Given the description of an element on the screen output the (x, y) to click on. 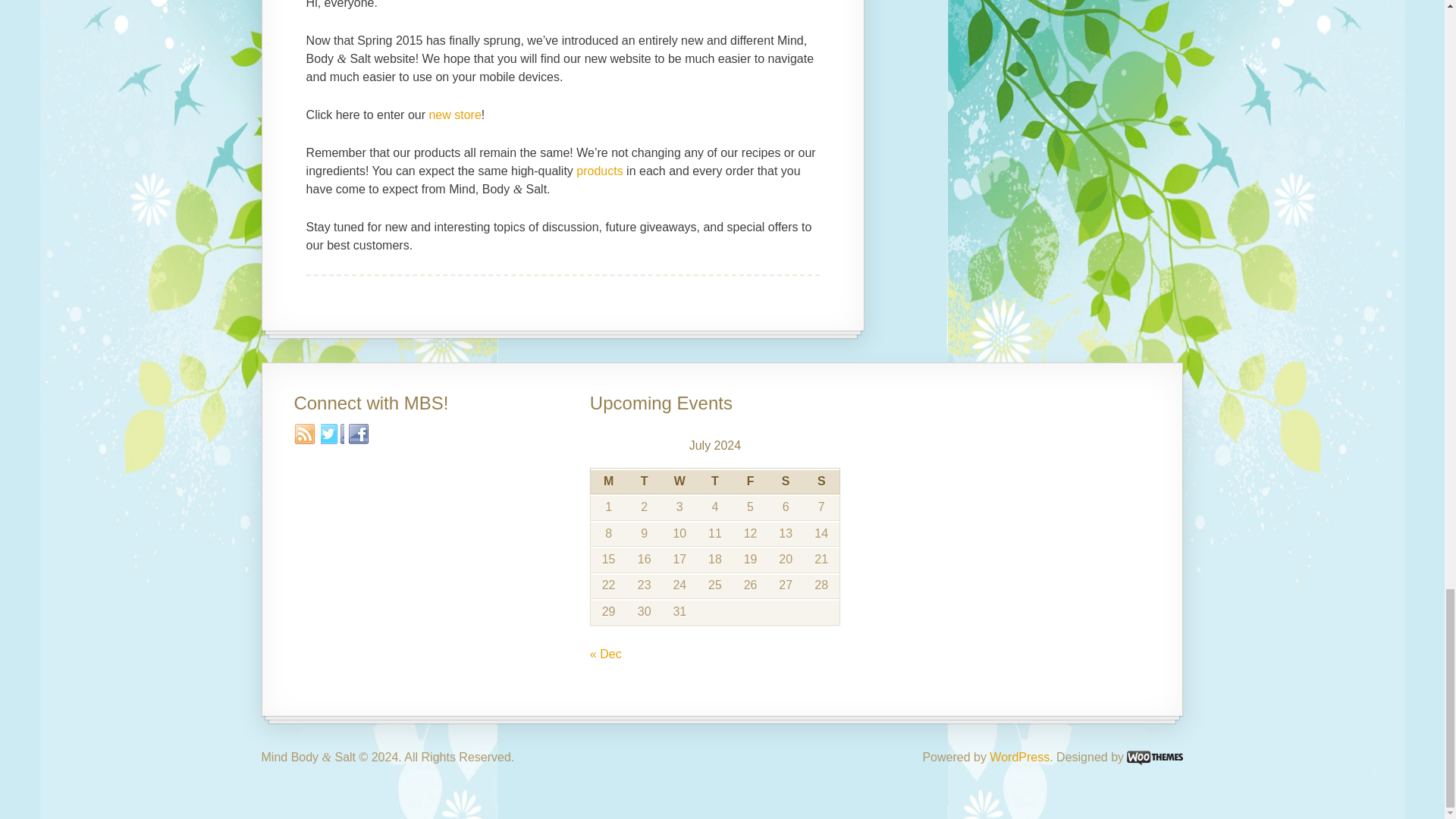
Shop (453, 114)
Monday (607, 481)
RSS (305, 434)
Facebook (359, 434)
Twitter (331, 434)
